Given the description of an element on the screen output the (x, y) to click on. 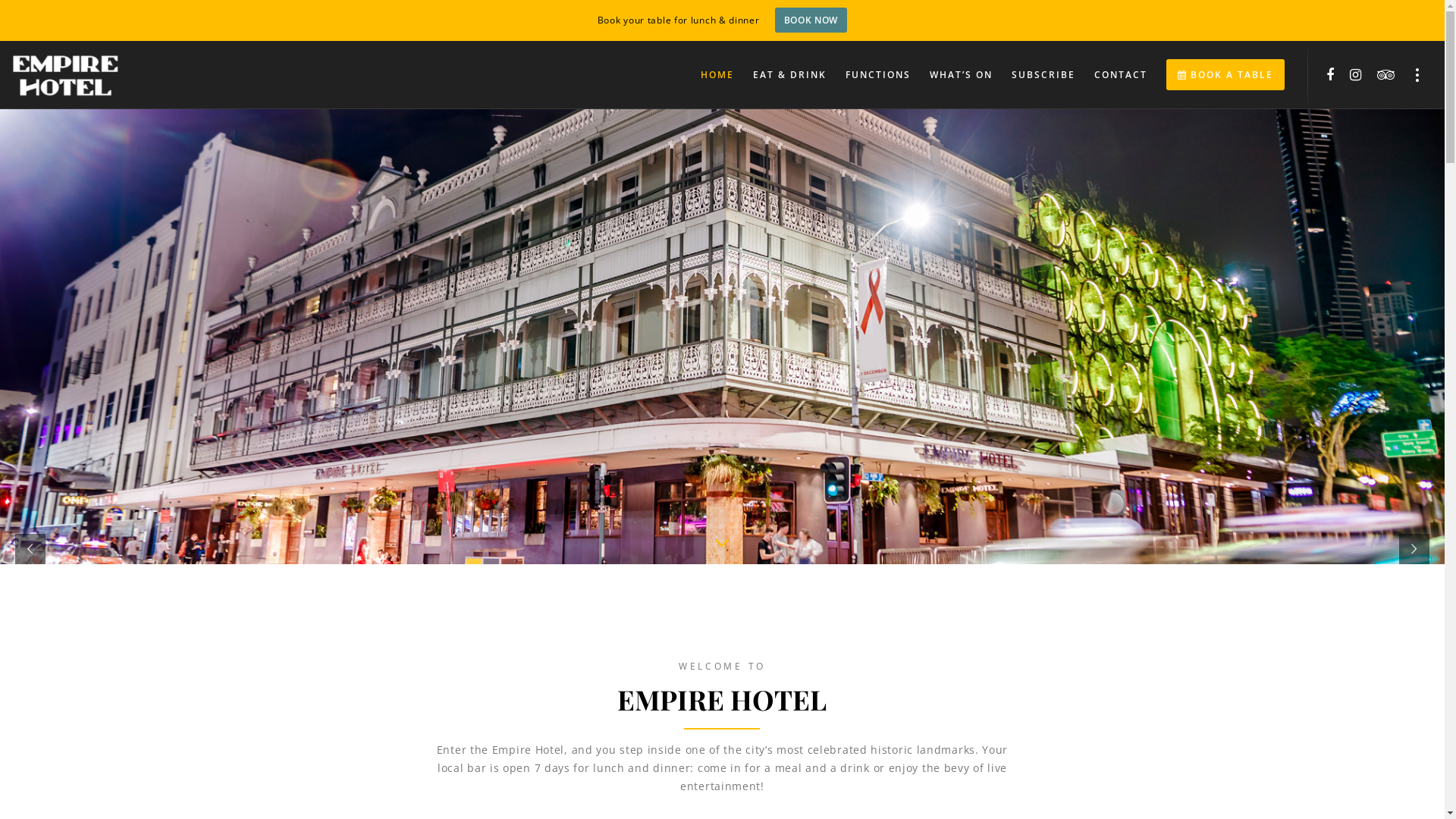
SUBSCRIBE Element type: text (1033, 74)
BOOK A TABLE Element type: text (1215, 74)
EAT & DRINK Element type: text (780, 74)
FUNCTIONS Element type: text (868, 74)
BOOK NOW Element type: text (811, 19)
CONTACT Element type: text (1111, 74)
HOME Element type: text (707, 74)
